Given the description of an element on the screen output the (x, y) to click on. 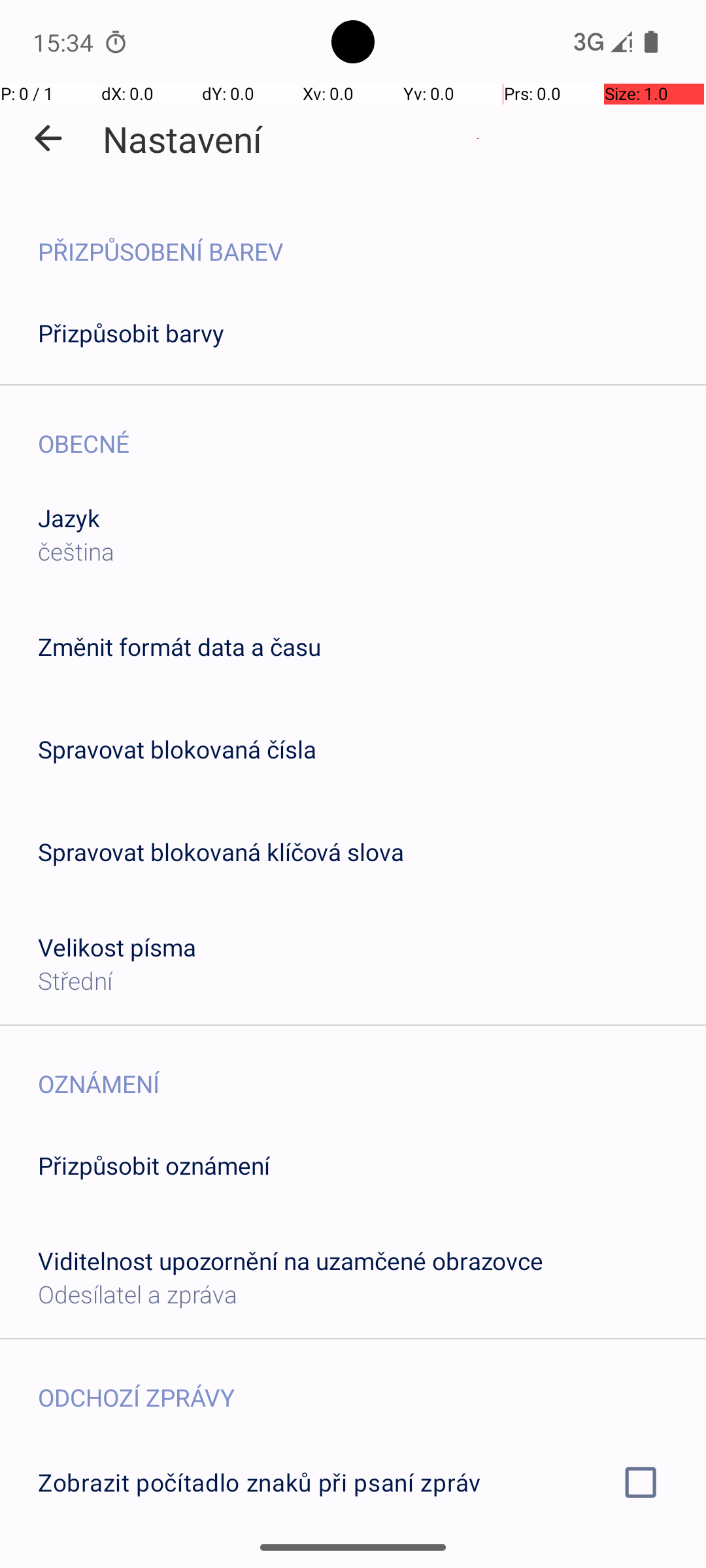
Zpět Element type: android.widget.ImageButton (48, 138)
PŘIZPŮSOBENÍ BAREV Element type: android.widget.TextView (371, 237)
OBECNÉ Element type: android.widget.TextView (371, 429)
OZNÁMENÍ Element type: android.widget.TextView (371, 1069)
ODCHOZÍ ZPRÁVY Element type: android.widget.TextView (371, 1383)
Přizpůsobit barvy Element type: android.widget.TextView (130, 332)
Jazyk Element type: android.widget.TextView (68, 517)
čeština Element type: android.widget.TextView (75, 550)
Změnit formát data a času Element type: android.widget.TextView (178, 646)
Spravovat blokovaná čísla Element type: android.widget.TextView (176, 748)
Spravovat blokovaná klíčová slova Element type: android.widget.TextView (220, 851)
Velikost písma Element type: android.widget.TextView (116, 946)
Střední Element type: android.widget.TextView (74, 979)
Přizpůsobit oznámení Element type: android.widget.TextView (153, 1164)
Viditelnost upozornění na uzamčené obrazovce Element type: android.widget.TextView (290, 1260)
Odesílatel a zpráva Element type: android.widget.TextView (137, 1293)
Zobrazit počítadlo znaků při psaní zpráv Element type: android.widget.CheckBox (352, 1482)
Odstranit diakritiku při odesílání zprávy Element type: android.widget.CheckBox (352, 1559)
